Given the description of an element on the screen output the (x, y) to click on. 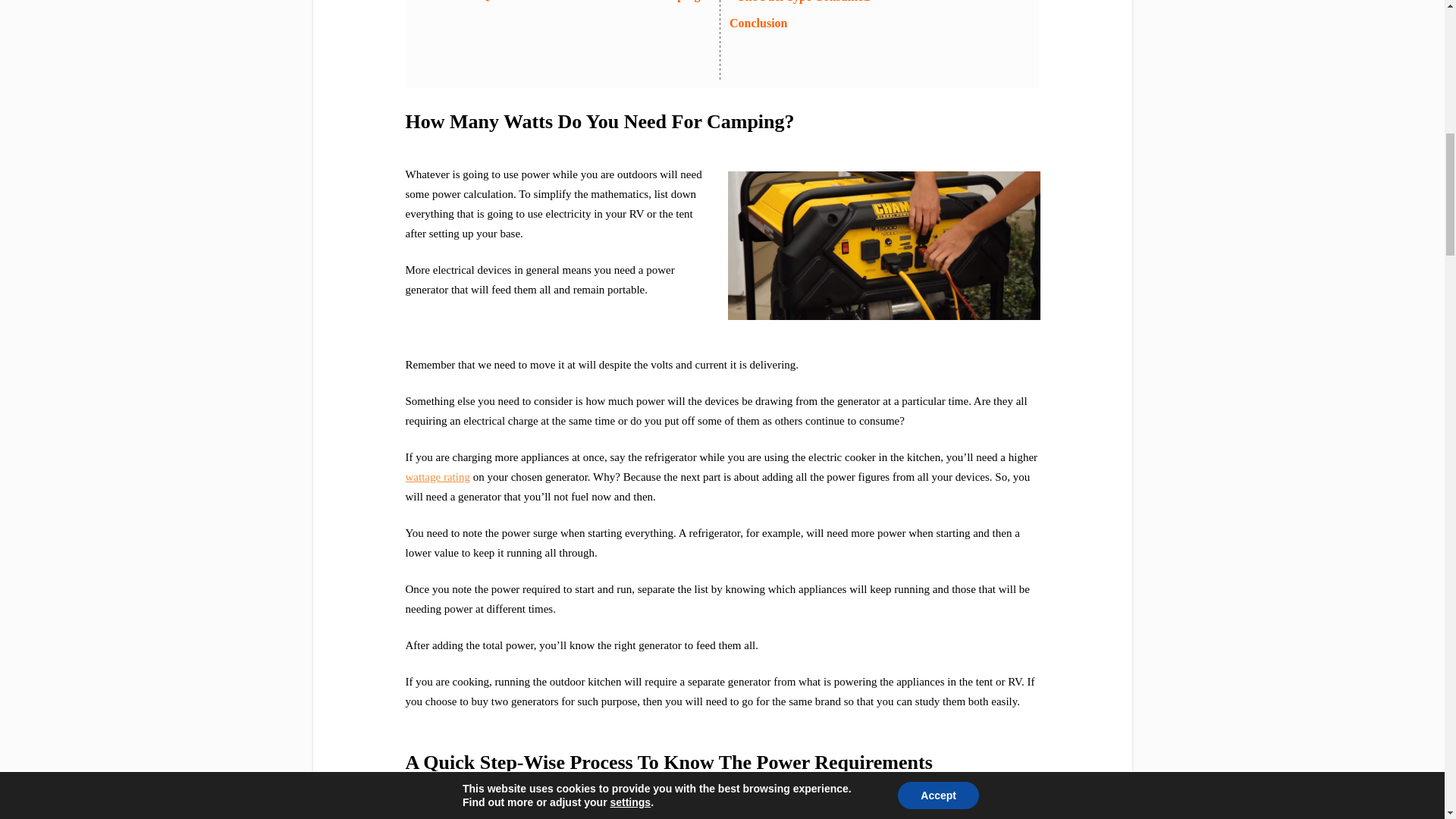
How Many Watts Need For Camping (884, 245)
The Fuel Type Consumed (802, 1)
Conclusion (758, 22)
wattage rating (436, 476)
